Given the description of an element on the screen output the (x, y) to click on. 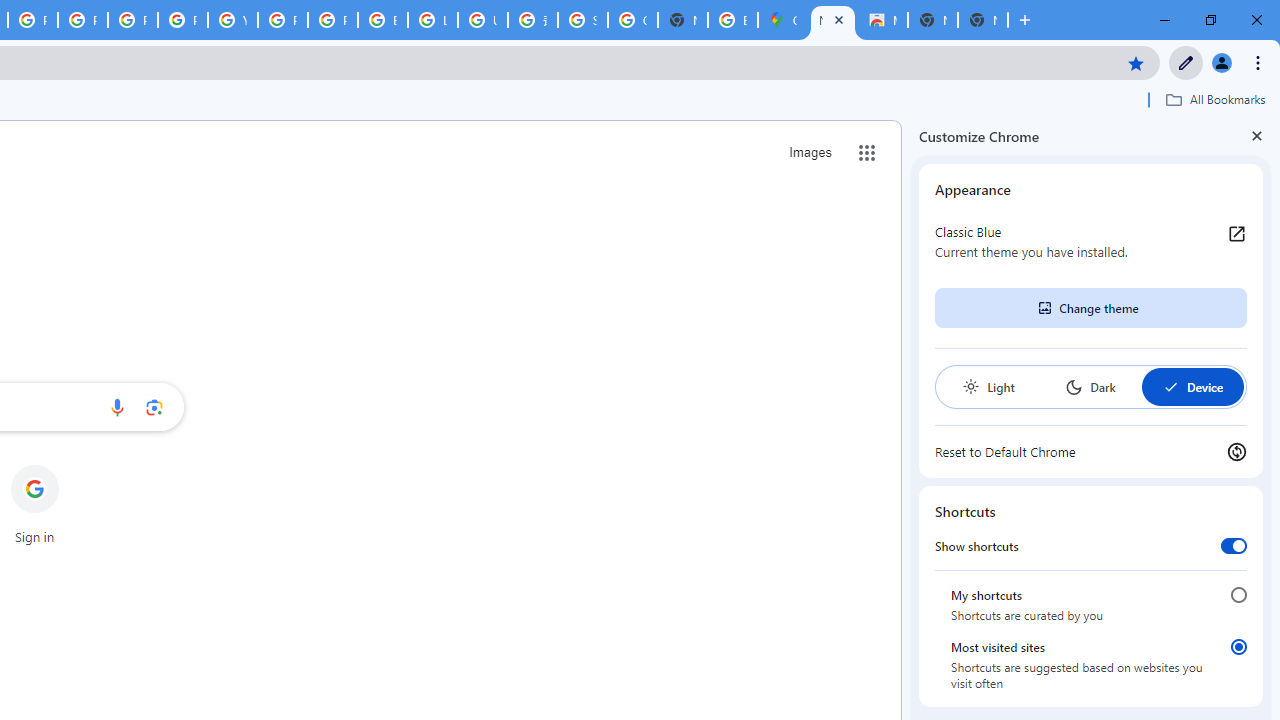
All Bookmarks (1215, 99)
Browse Chrome as a guest - Computer - Google Chrome Help (383, 20)
New Tab (982, 20)
Privacy Help Center - Policies Help (132, 20)
AutomationID: baseSvg (1170, 386)
Sign in - Google Accounts (582, 20)
Explore new street-level details - Google Maps Help (732, 20)
Search by voice (116, 407)
